Given the description of an element on the screen output the (x, y) to click on. 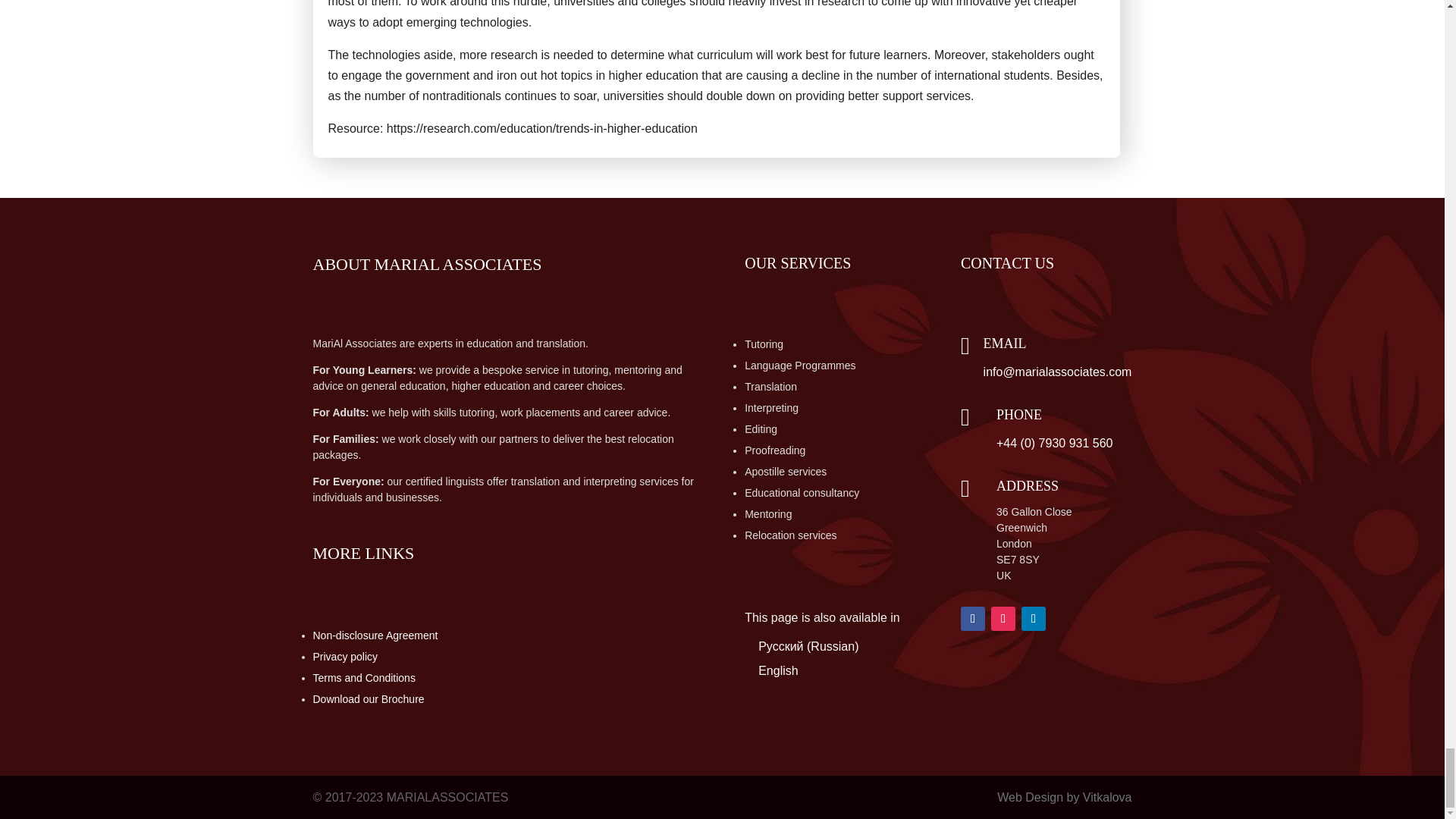
Follow on Facebook (972, 618)
Follow on LinkedIn (1033, 618)
Follow on Instagram (1002, 618)
